Given the description of an element on the screen output the (x, y) to click on. 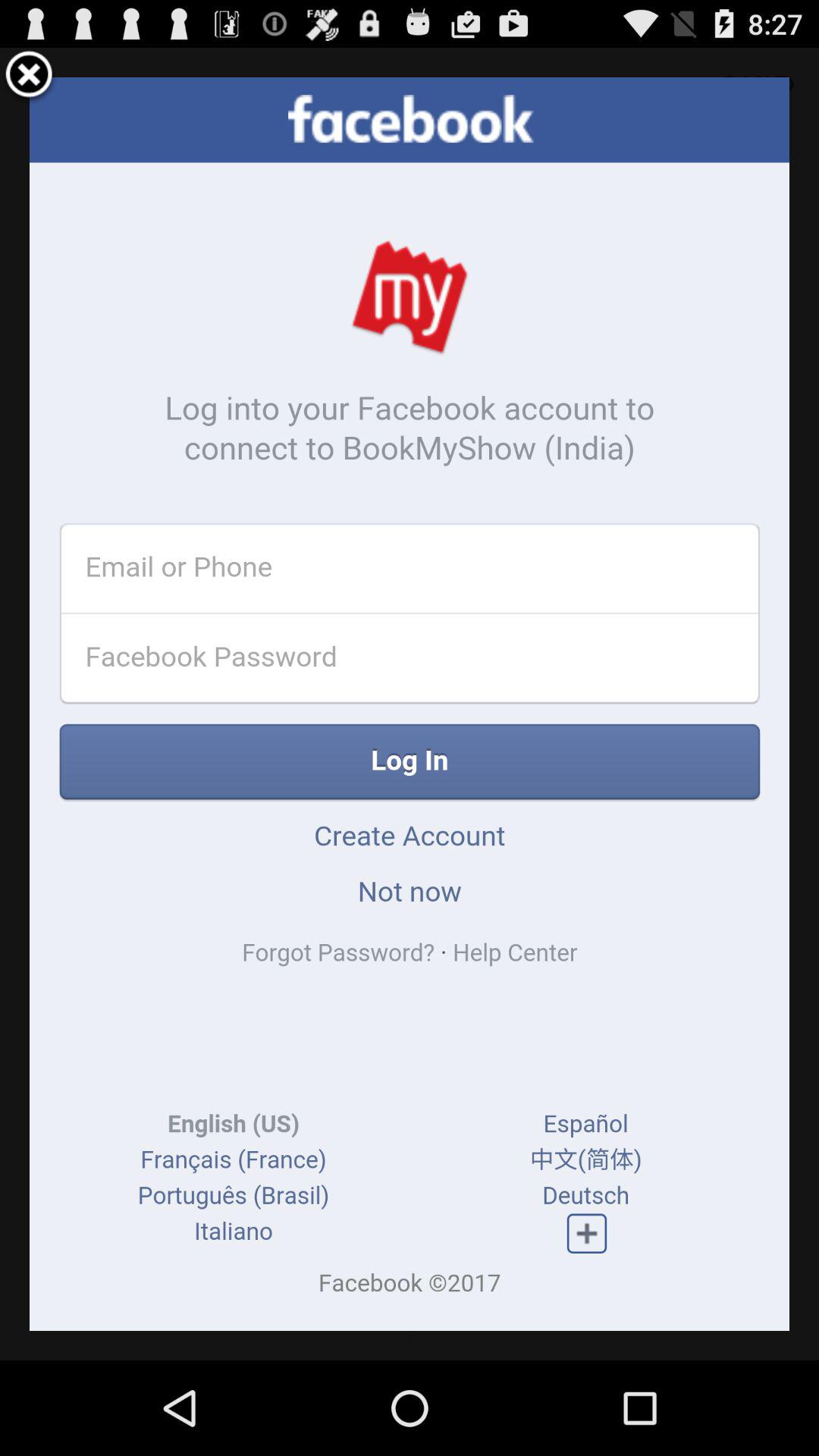
close option (29, 76)
